Given the description of an element on the screen output the (x, y) to click on. 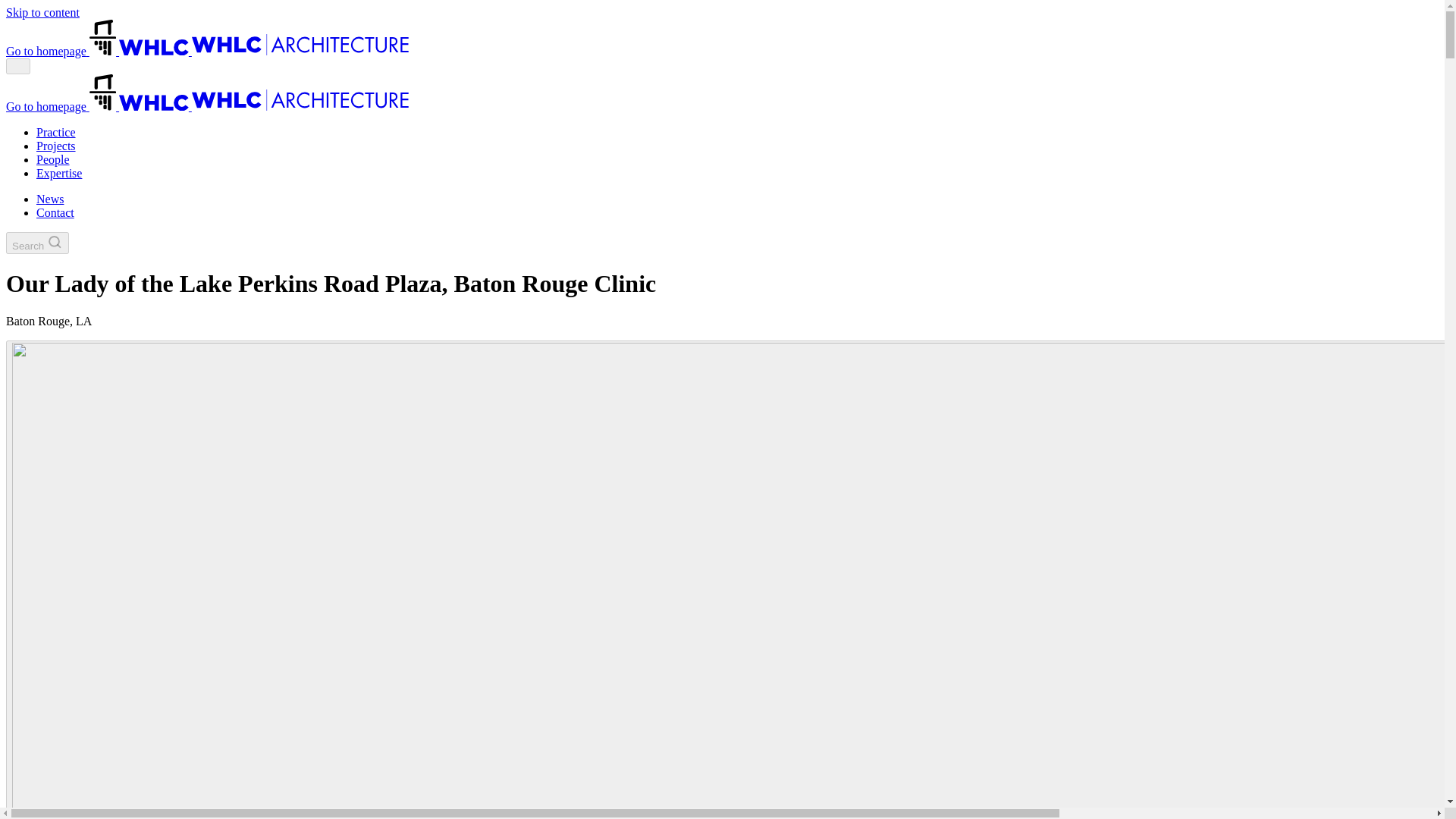
Expertise (58, 173)
Go to homepage (207, 106)
Practice (55, 132)
Go to homepage (207, 51)
News (50, 198)
Menu toggle (17, 66)
People (52, 159)
Toggle Search (36, 242)
Contact (55, 212)
Search (36, 242)
Skip to content (42, 11)
Projects (55, 145)
